Given the description of an element on the screen output the (x, y) to click on. 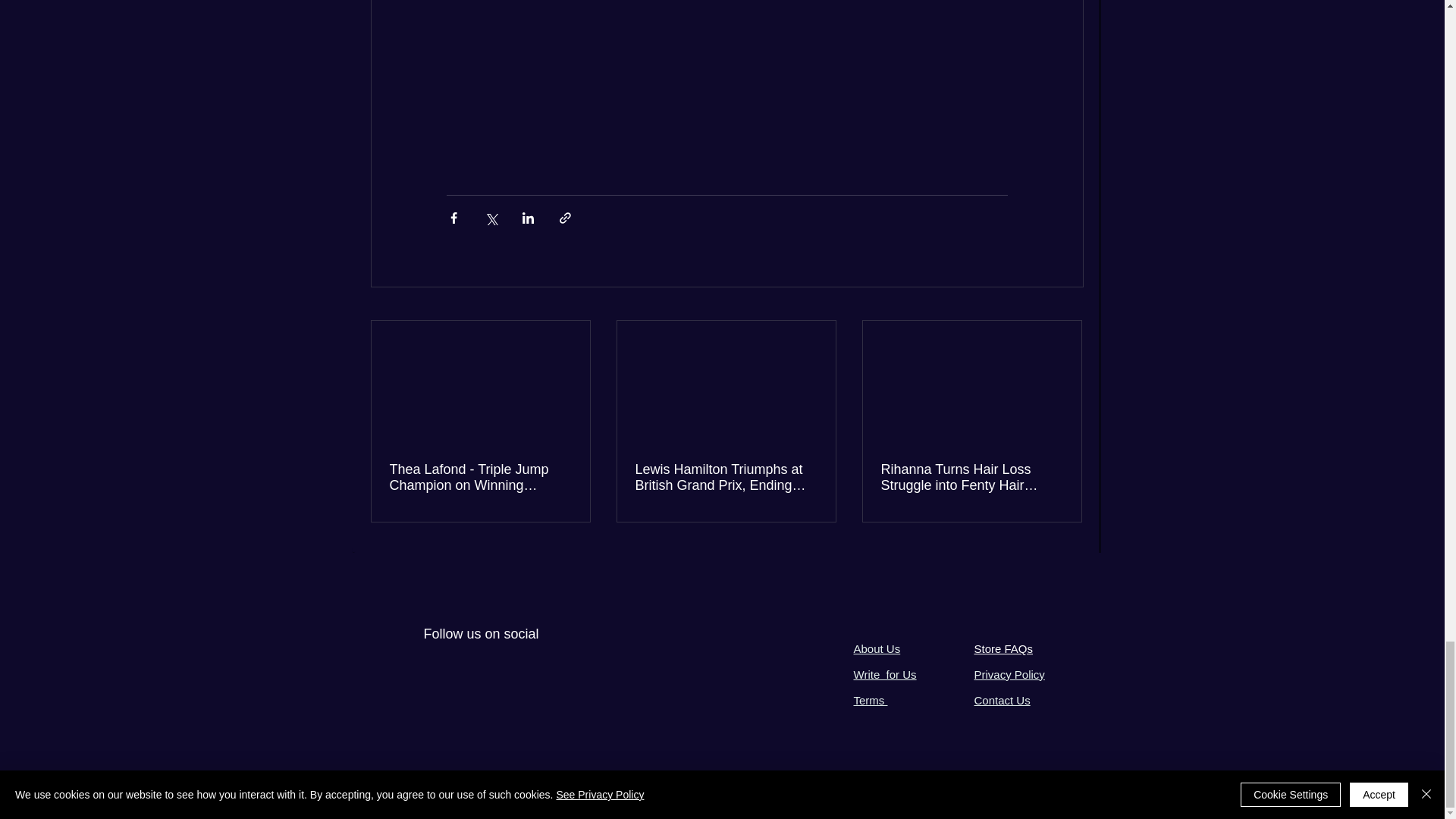
Contact Us (1001, 699)
Privacy Policy (1008, 674)
About Us (877, 648)
Write  for Us (885, 674)
Terms  (870, 699)
Store FAQs (1003, 648)
